Given the description of an element on the screen output the (x, y) to click on. 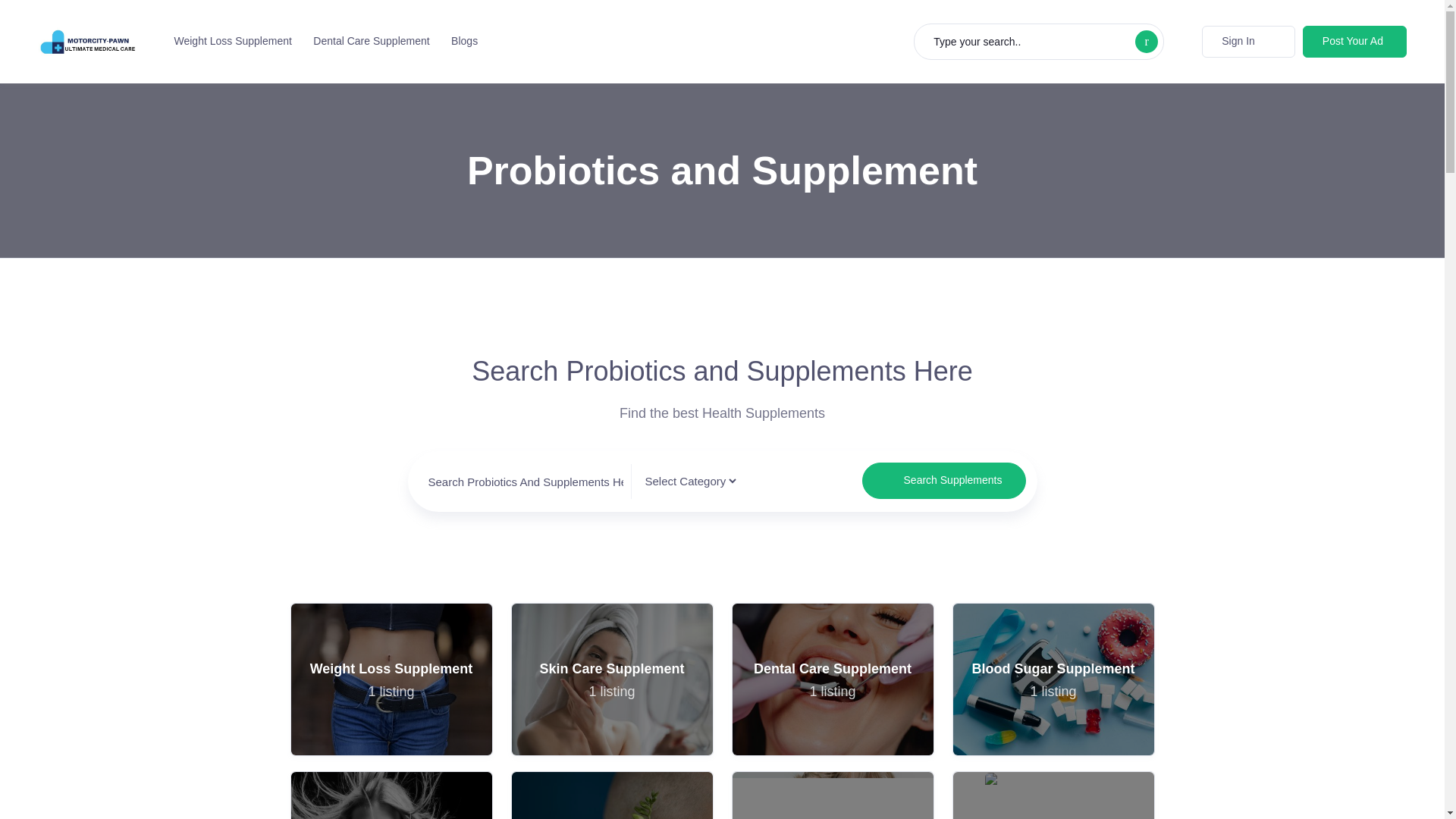
Dental Care Supplement (390, 795)
Search Supplements (832, 679)
Skin Care Supplement (943, 480)
Weight Loss Supplement (831, 795)
Nail Care Supplements (831, 678)
Type your search.. (611, 679)
Post Your Ad (390, 679)
